Given the description of an element on the screen output the (x, y) to click on. 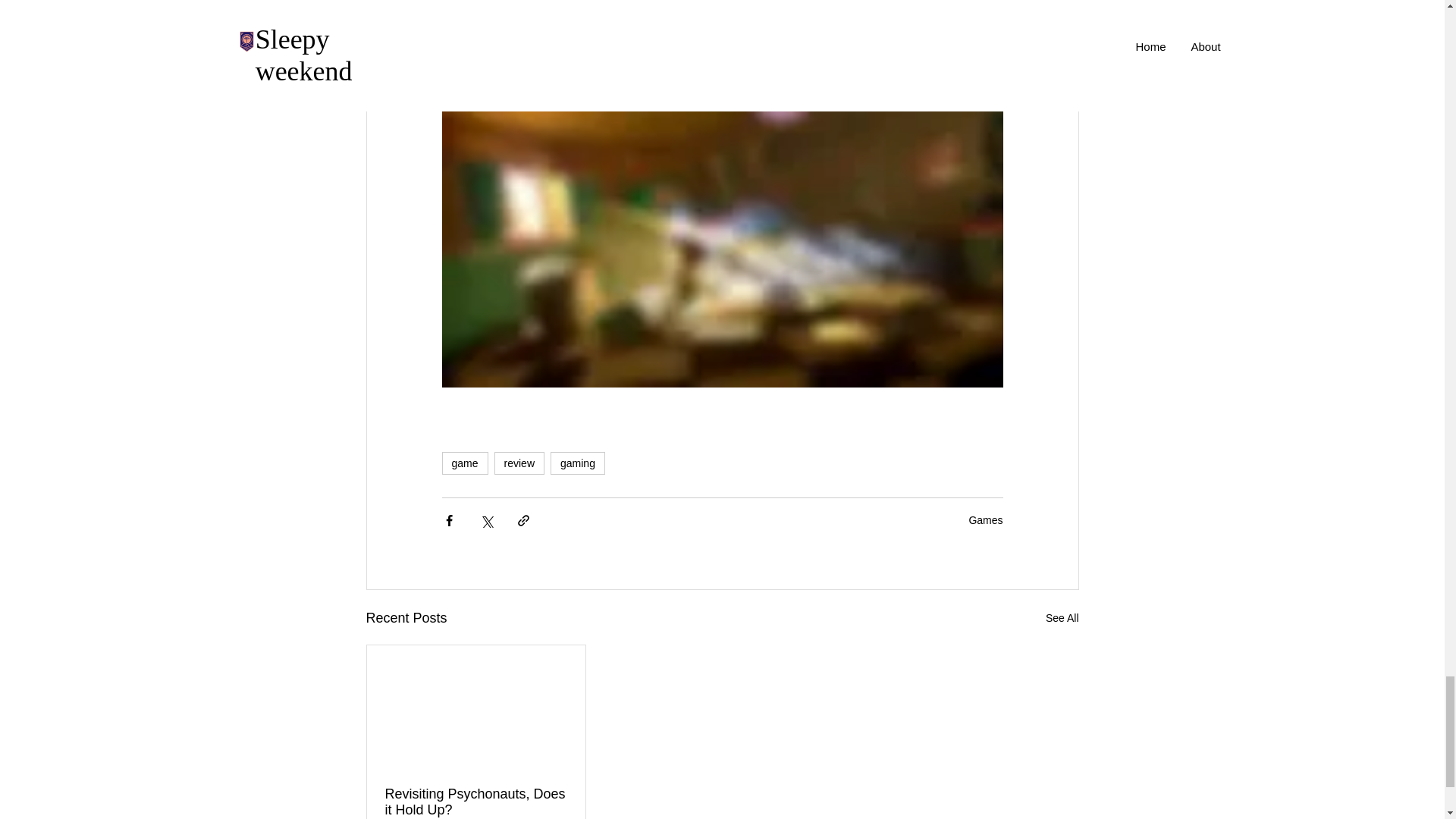
Games (985, 520)
game (464, 463)
Revisiting Psychonauts, Does it Hold Up? (476, 802)
review (519, 463)
See All (1061, 618)
gaming (577, 463)
